Given the description of an element on the screen output the (x, y) to click on. 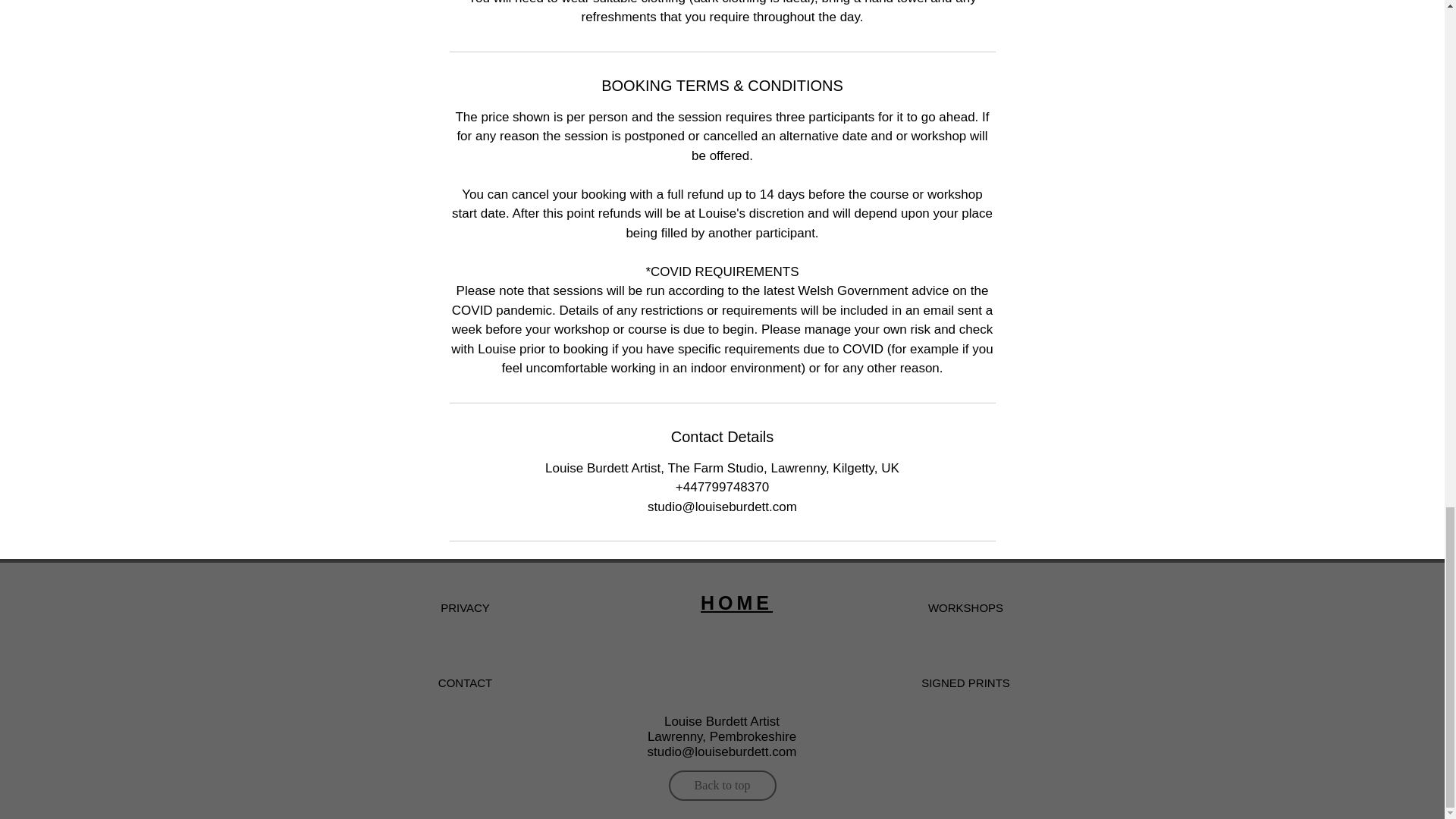
CONTACT (464, 682)
Back to top (722, 785)
WORKSHOPS (965, 607)
PRIVACY (464, 607)
HOME (736, 602)
SIGNED PRINTS (965, 682)
